Given the description of an element on the screen output the (x, y) to click on. 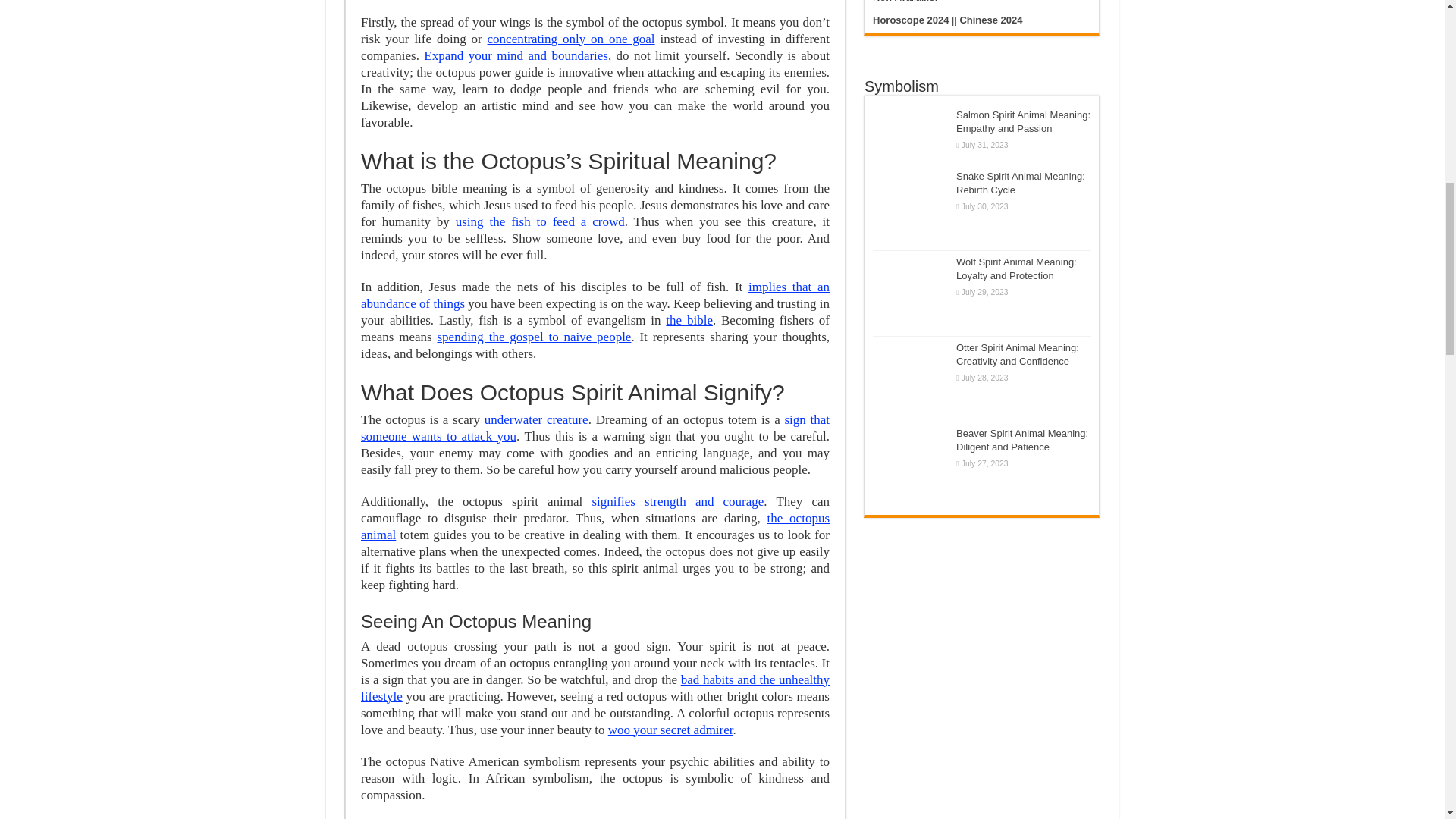
underwater creature (536, 419)
implies that an abundance of things (595, 295)
bad habits and the unhealthy lifestyle (595, 687)
sign that someone wants to attack you (595, 427)
spending the gospel to naive people (533, 336)
woo your secret admirer (670, 729)
Expand your mind and boundaries (515, 55)
concentrating only on one goal (571, 38)
using the fish to feed a crowd (539, 221)
signifies strength and courage (676, 501)
the octopus animal (595, 526)
the bible (689, 319)
